Given the description of an element on the screen output the (x, y) to click on. 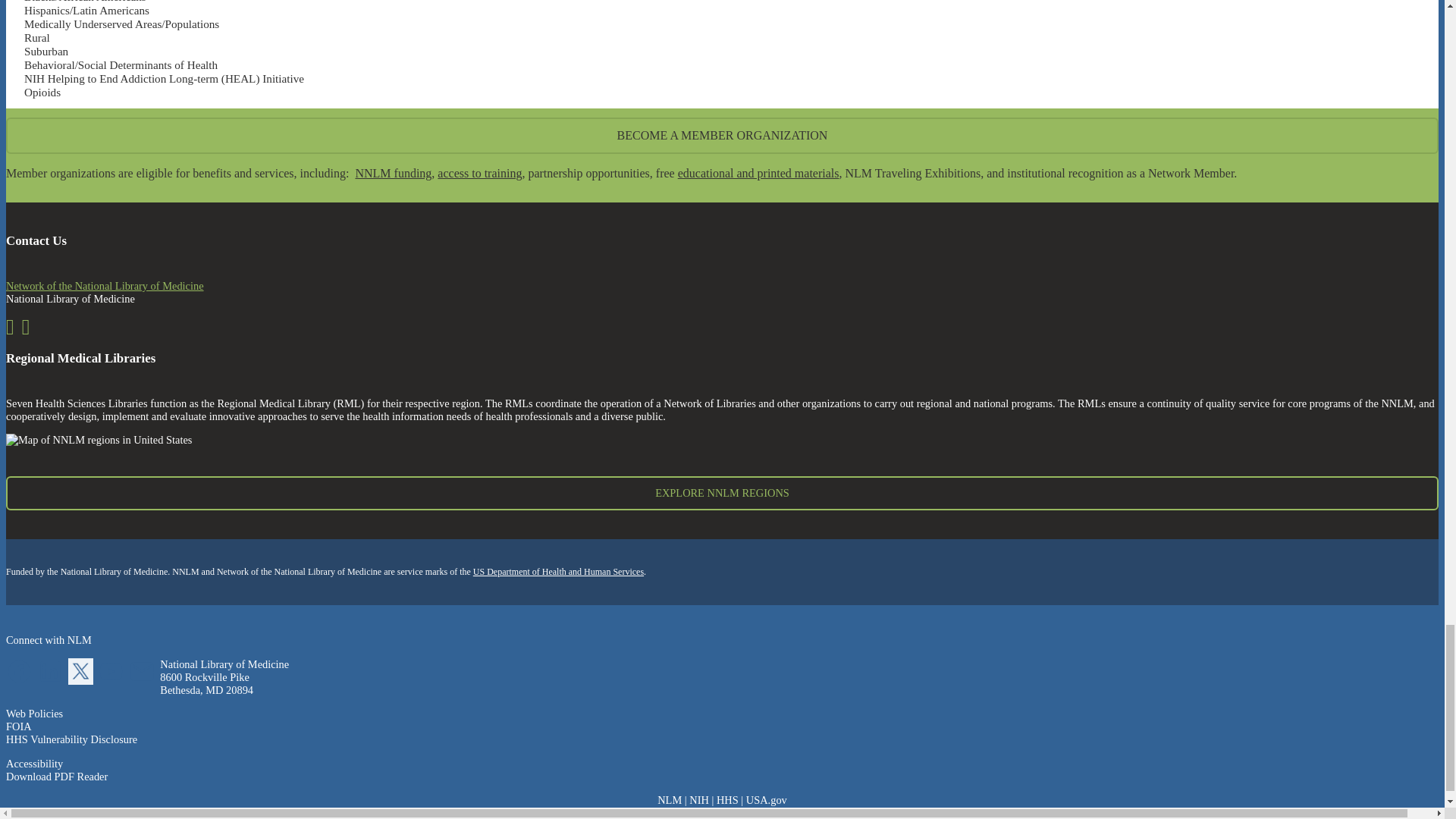
External link: please review our privacy policy. (82, 680)
Get PDF Reader Plugin (56, 776)
External link: please review our privacy policy. (21, 680)
News blogs across the NNLM Network (13, 330)
External link: please review our privacy policy. (113, 680)
External link: please review our privacy policy. (144, 680)
External link: please review our privacy policy. (52, 680)
